Given the description of an element on the screen output the (x, y) to click on. 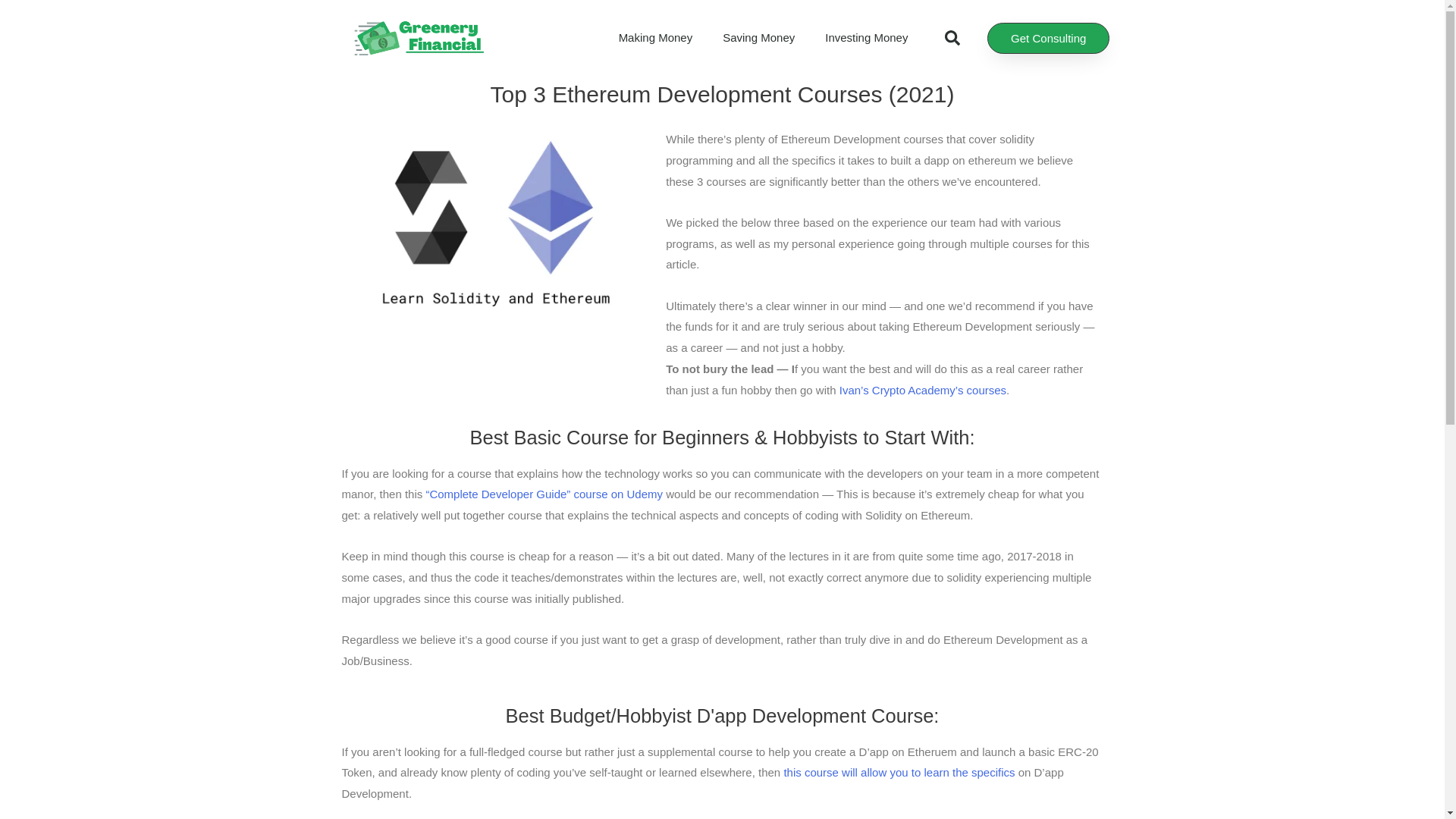
Get Consulting (1048, 38)
Saving Money (758, 38)
Investing Money (866, 38)
this course will allow you to learn the specifics (898, 771)
Making Money (655, 38)
